Given the description of an element on the screen output the (x, y) to click on. 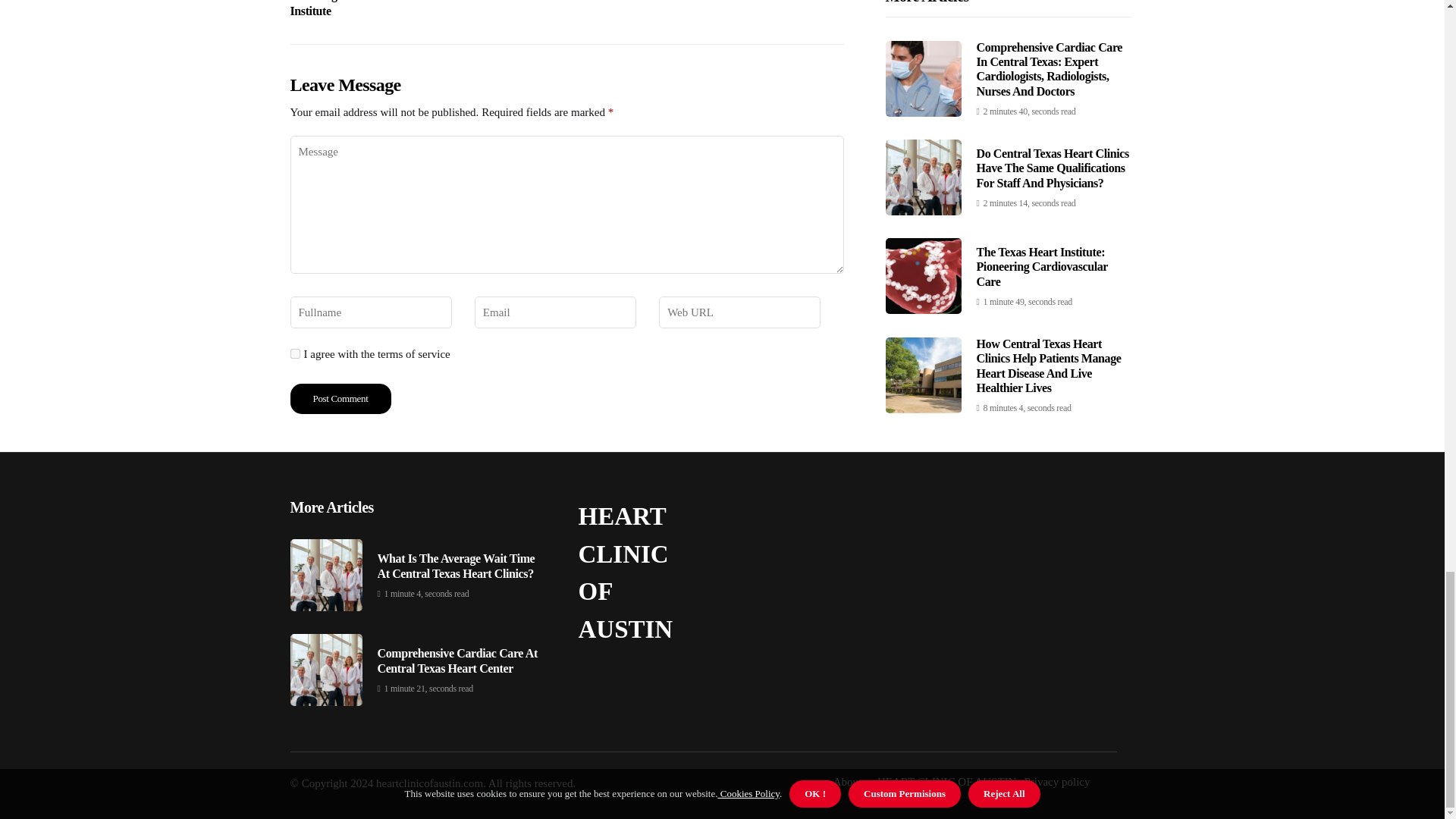
Post Comment (339, 399)
yes (294, 353)
Post Comment (400, 9)
